Given the description of an element on the screen output the (x, y) to click on. 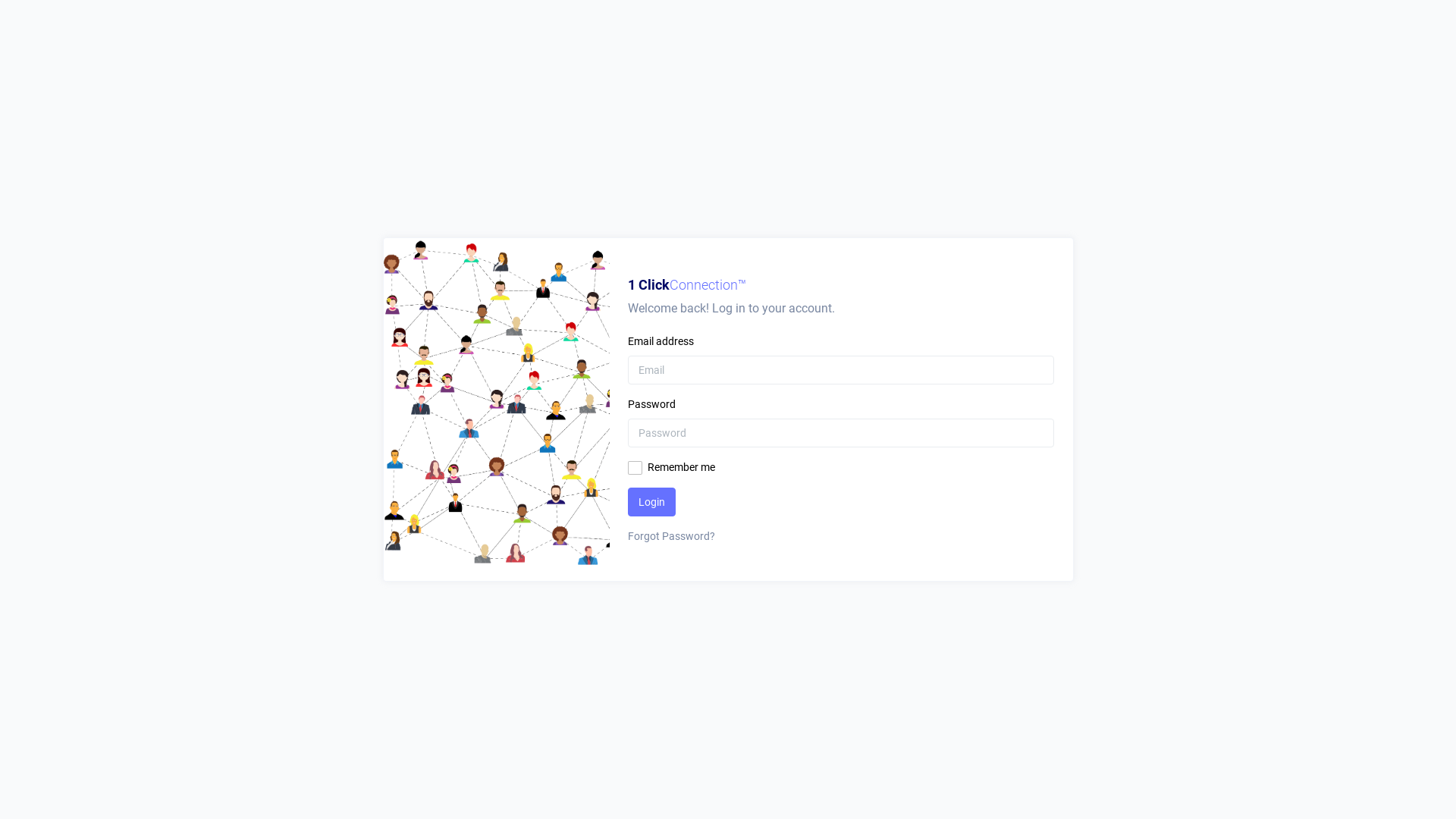
Forgot Password? Element type: text (840, 536)
Login Element type: text (651, 501)
